Given the description of an element on the screen output the (x, y) to click on. 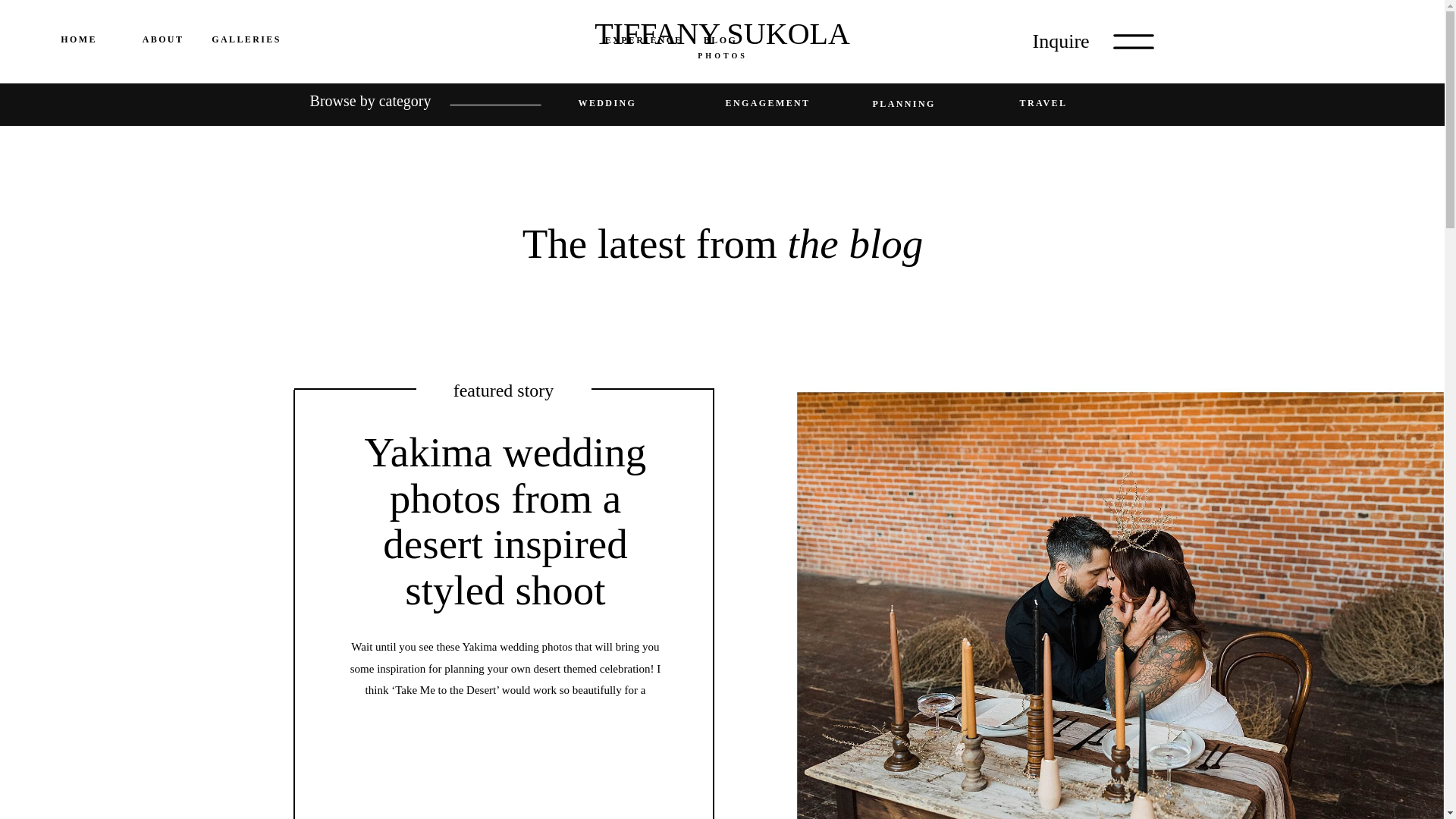
TRAVEL (1086, 104)
PLANNING (939, 104)
WEDDING (645, 104)
ABOUT (163, 39)
ENGAGEMENT (792, 104)
VIEW POST (505, 746)
Inquire (1072, 39)
BLOG (719, 42)
EXPERIENCE (644, 42)
Yakima wedding photos from a desert inspired styled shoot (505, 521)
TIFFANY SUKOLA (722, 41)
HOME (78, 39)
GALLERIES (246, 39)
Yakima wedding photos from a desert inspired styled shoot (505, 746)
